Given the description of an element on the screen output the (x, y) to click on. 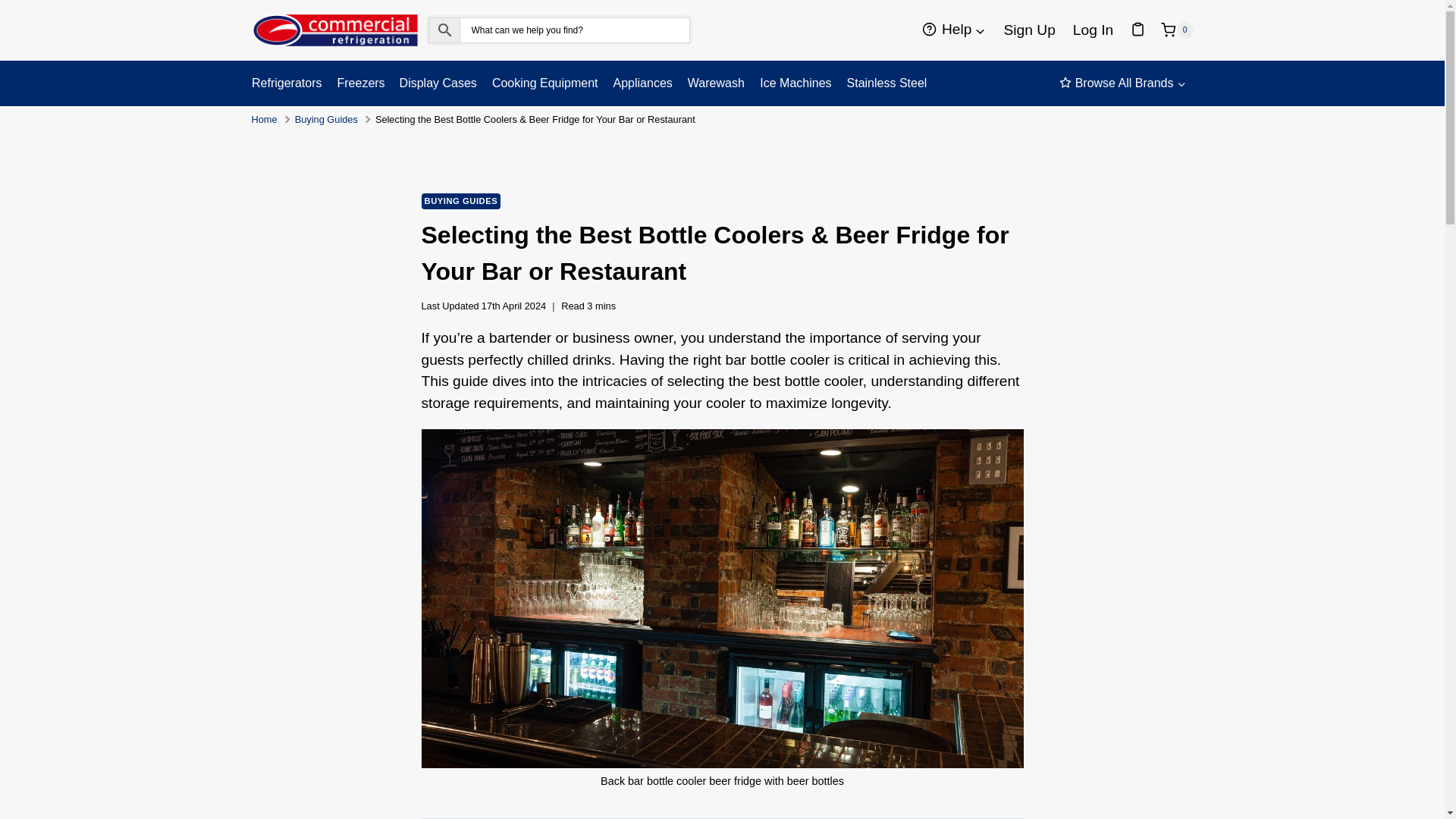
0 (1176, 30)
Refrigerators (290, 83)
Display Cases (437, 83)
Access your account (1092, 30)
Create an account (1029, 30)
Freezers (360, 83)
Favourites List (1137, 30)
Sign Up (1029, 30)
Log In (1092, 30)
Help (954, 30)
